Given the description of an element on the screen output the (x, y) to click on. 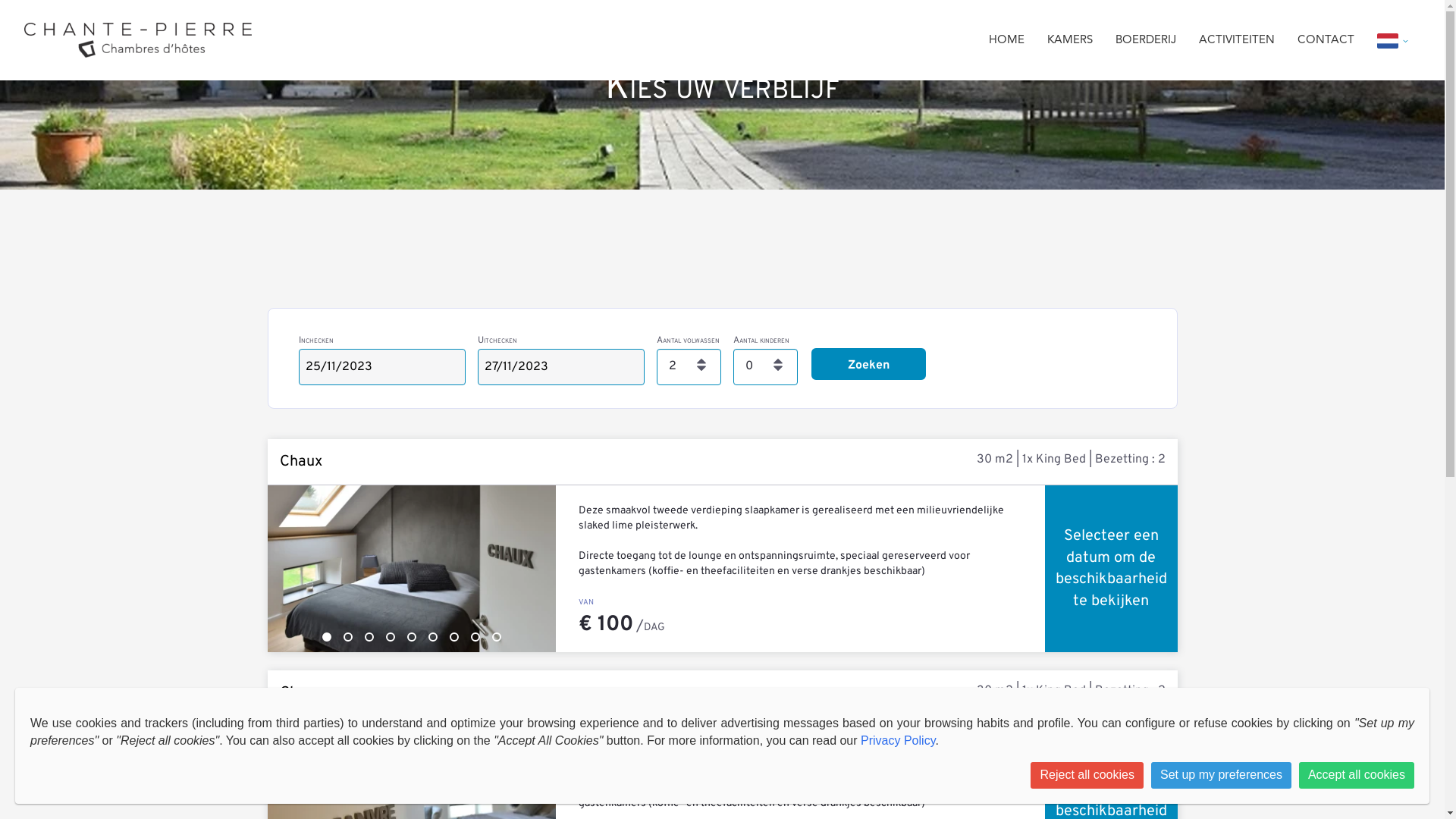
Accept all cookies Element type: text (1356, 775)
Zoeken Element type: text (868, 363)
Privacy Policy Element type: text (897, 740)
Set up my preferences Element type: text (1221, 775)
KAMERS Element type: text (1069, 40)
BOERDERIJ Element type: text (1145, 40)
Reject all cookies Element type: text (1086, 775)
HOME Element type: text (1006, 40)
CONTACT Element type: text (1325, 40)
ACTIVITEITEN Element type: text (1236, 40)
